Given the description of an element on the screen output the (x, y) to click on. 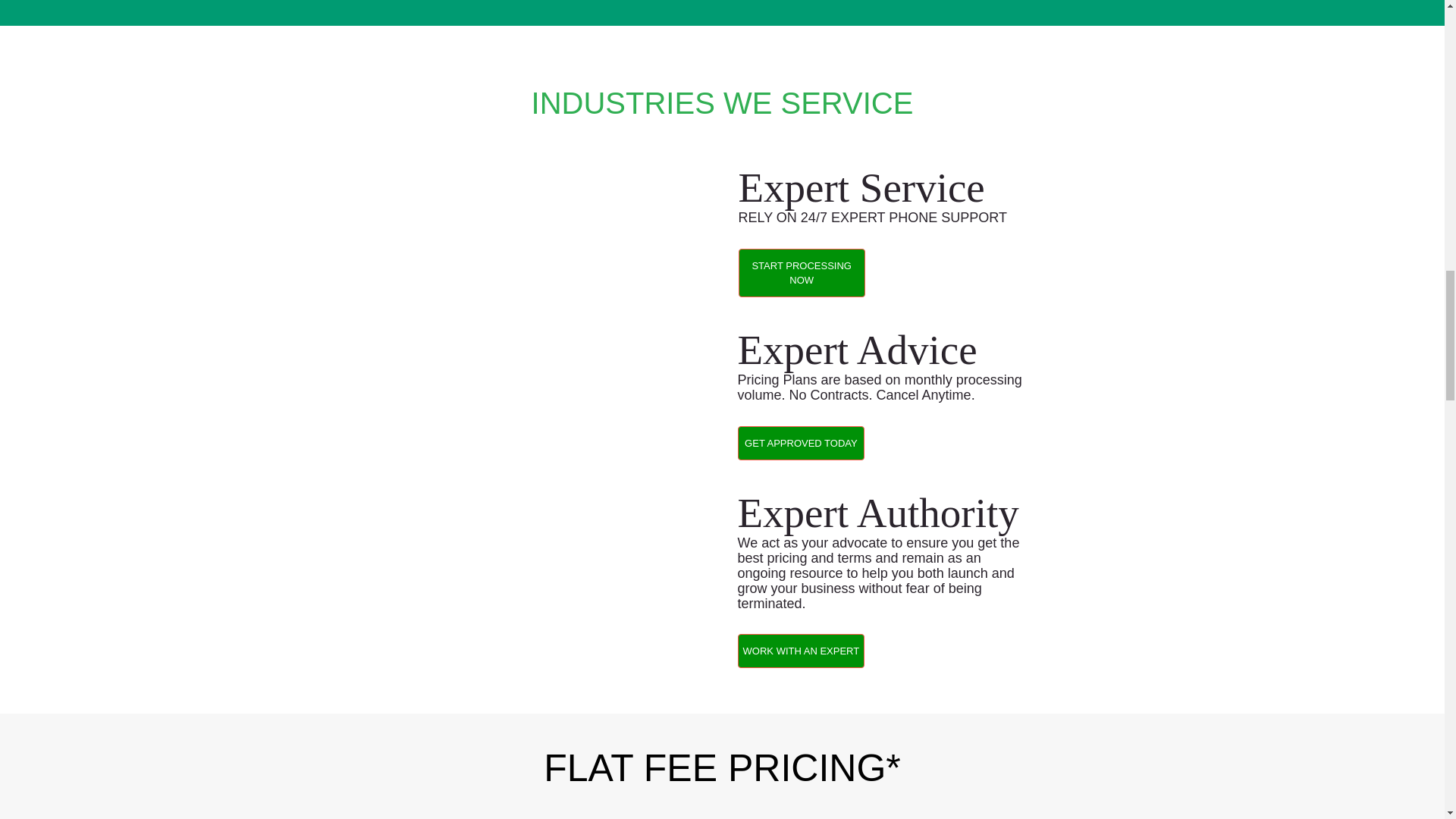
START PROCESSING NOW (801, 272)
GET APPROVED TODAY (800, 442)
WORK WITH AN EXPERT (800, 650)
